Given the description of an element on the screen output the (x, y) to click on. 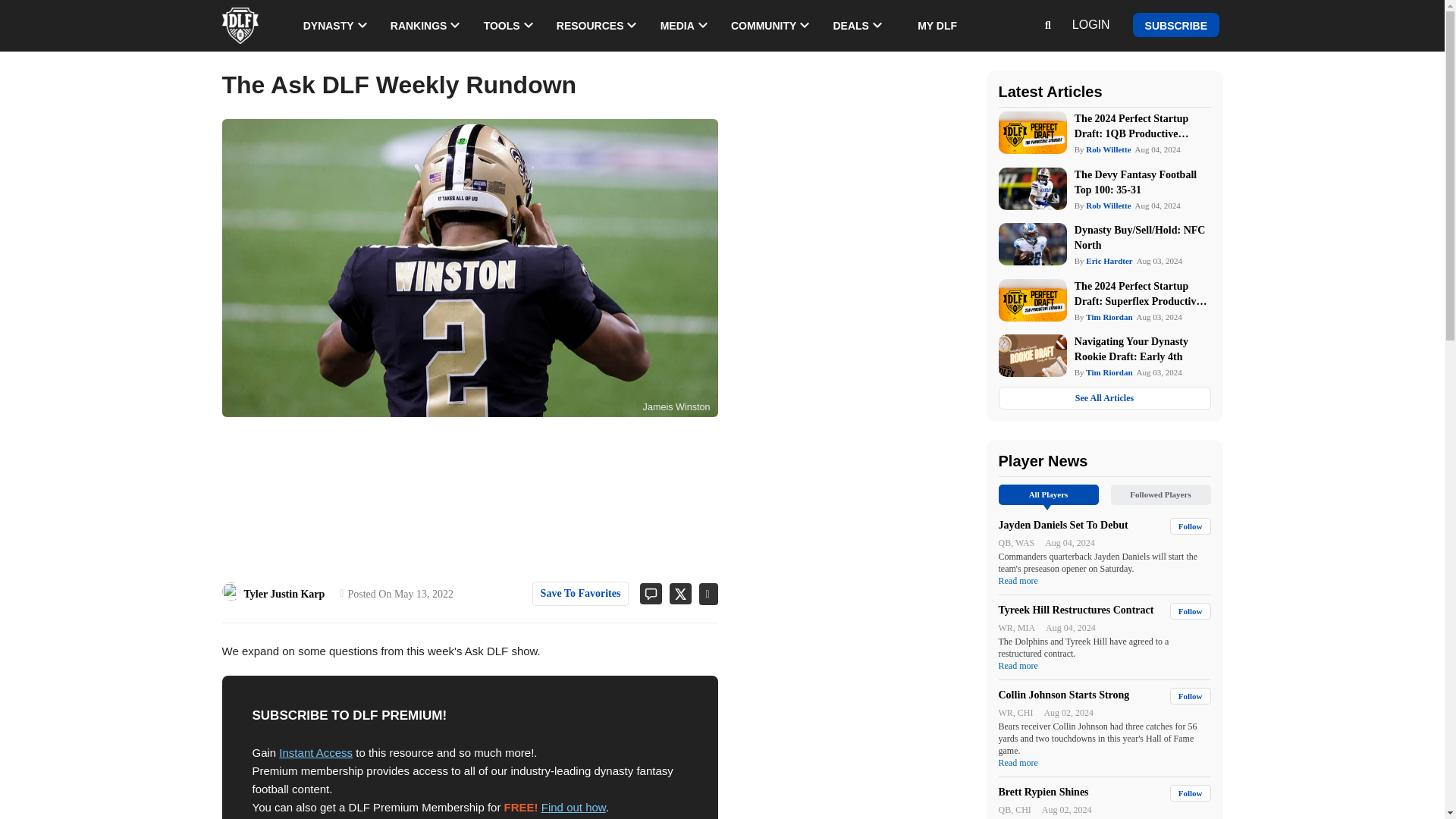
Tyler Justin Karp (230, 591)
Discuss in Comments (645, 593)
Navigating your dynasty rookie draft: early 4th 12 (1031, 355)
The devy fantasy football top 100: 35-31 9 (1031, 188)
Share on Facebook (704, 593)
The 2024 perfect startup draft: 1qb productive struggle 8 (1031, 132)
